Given the description of an element on the screen output the (x, y) to click on. 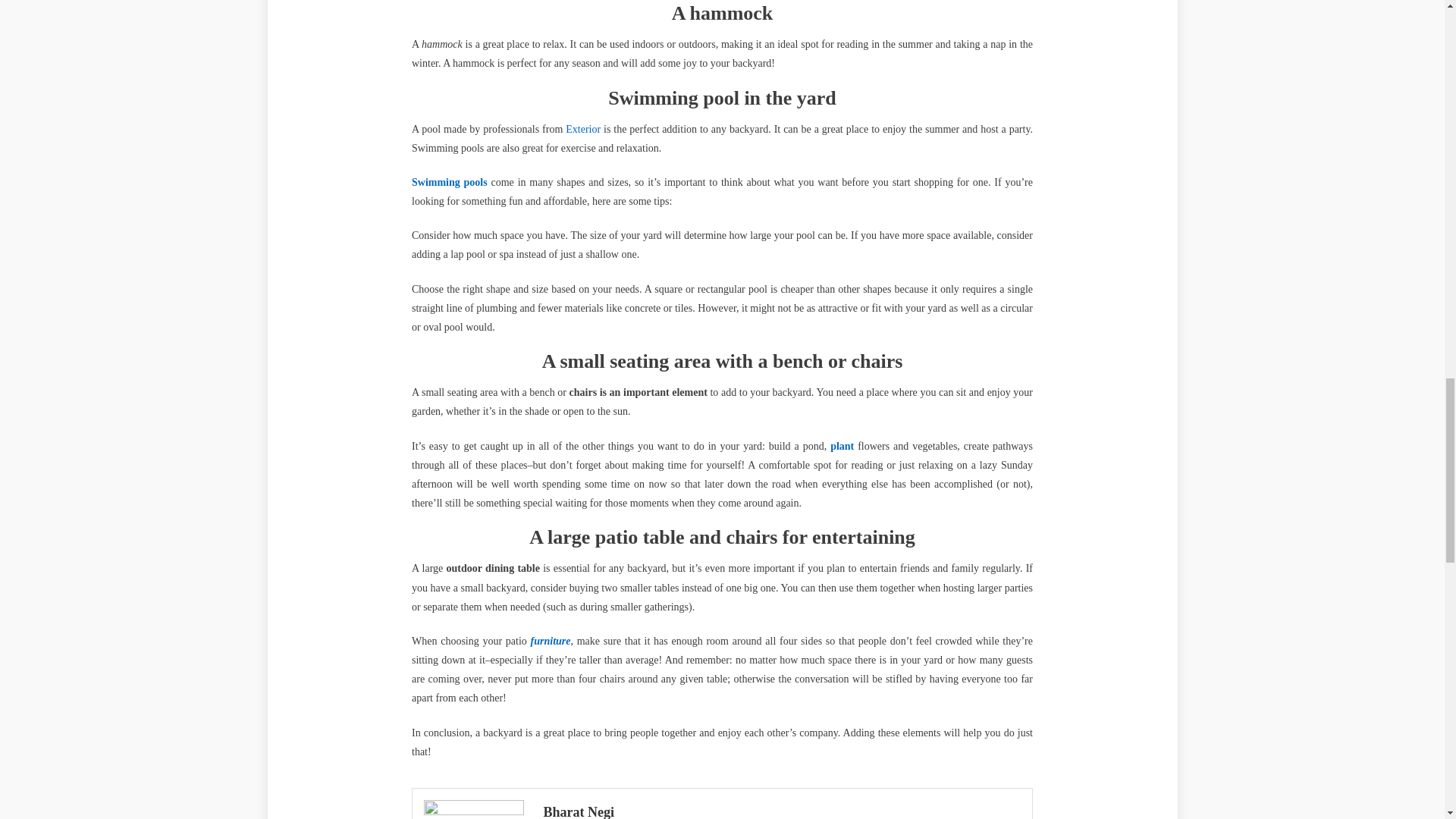
furniture (550, 641)
Bharat Negi (781, 809)
Swimming pools (449, 182)
plant (841, 446)
Exterior (582, 129)
